Given the description of an element on the screen output the (x, y) to click on. 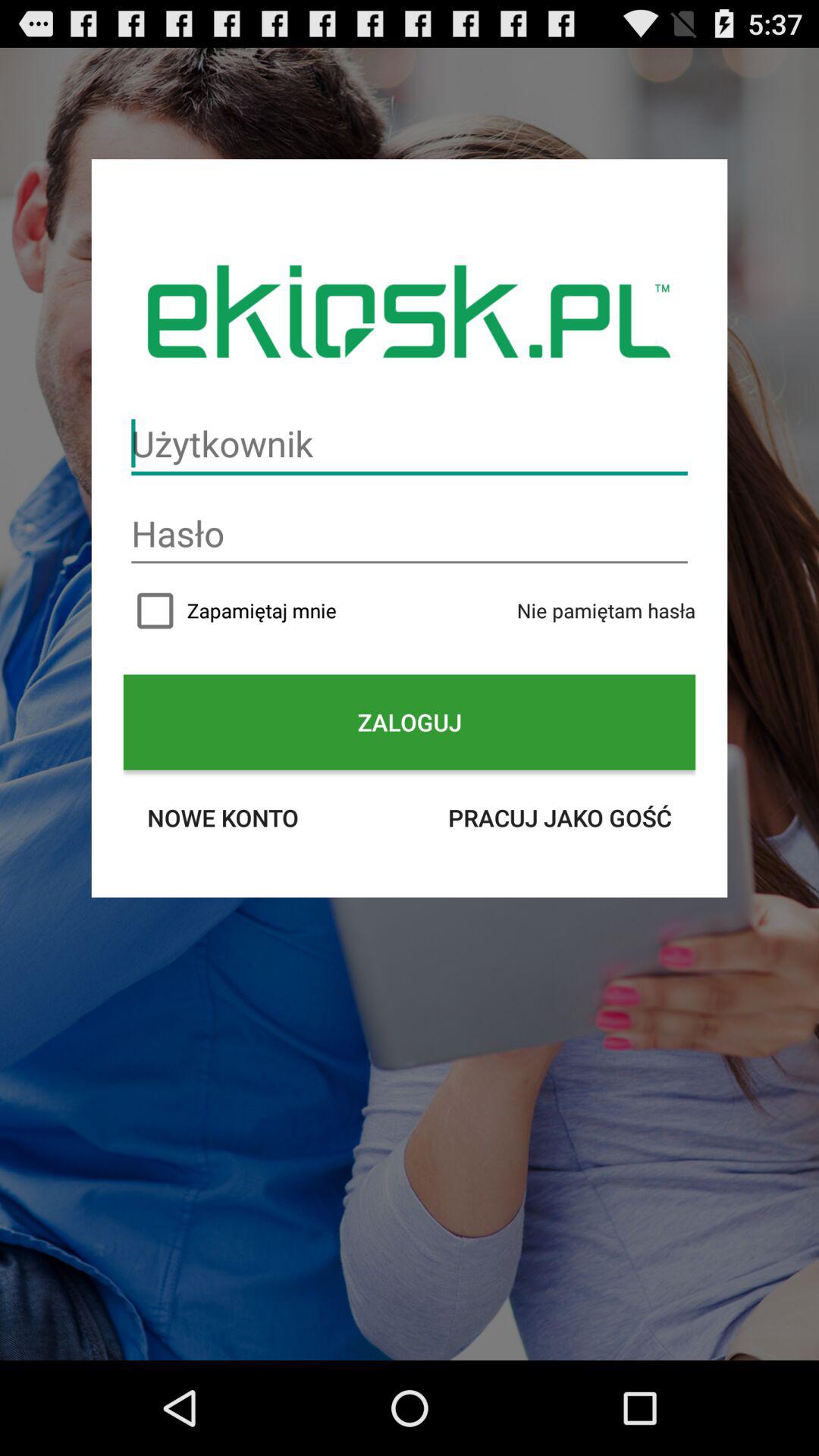
select the icon above the zaloguj (605, 610)
